Given the description of an element on the screen output the (x, y) to click on. 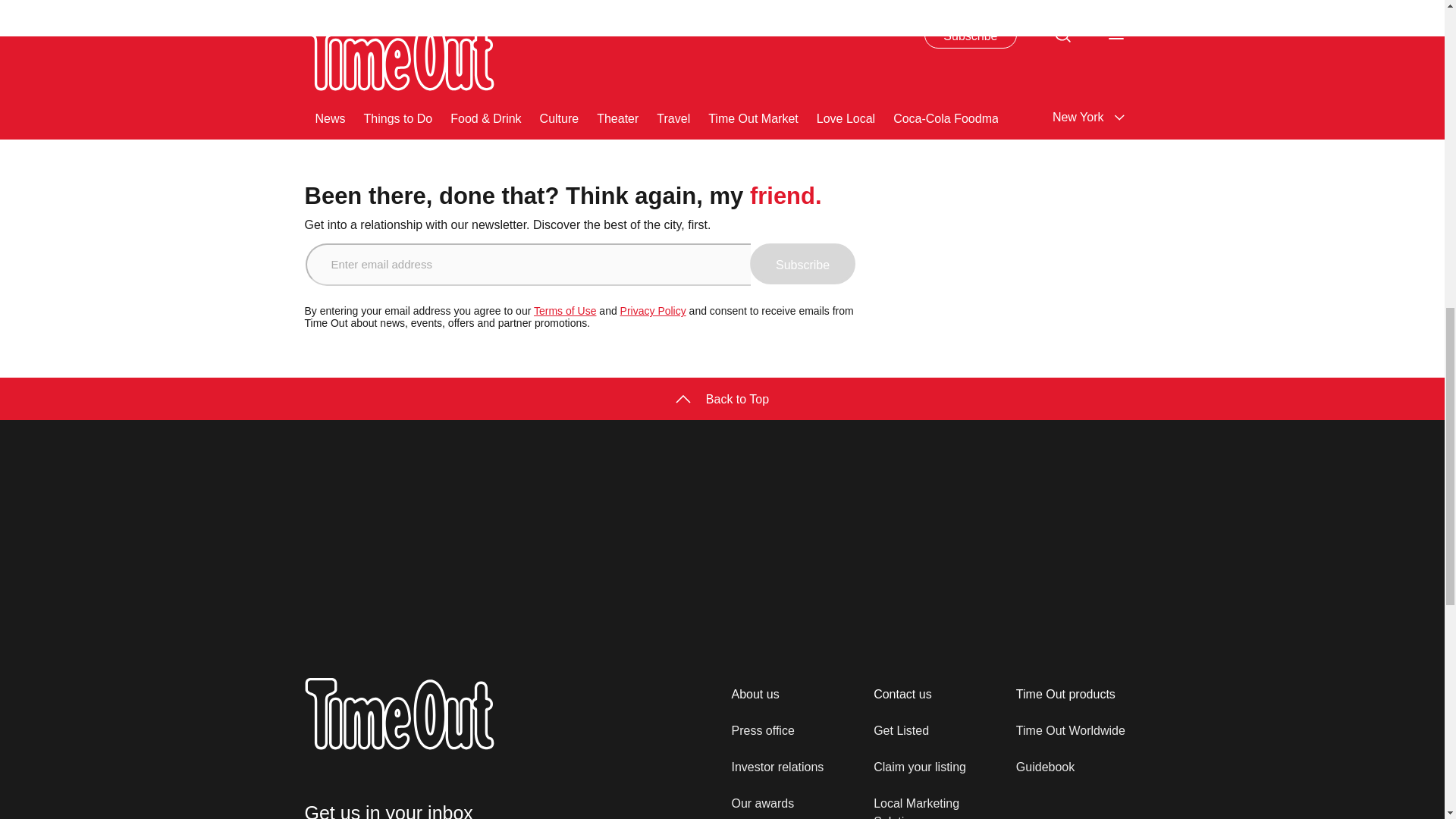
Subscribe (802, 263)
